Given the description of an element on the screen output the (x, y) to click on. 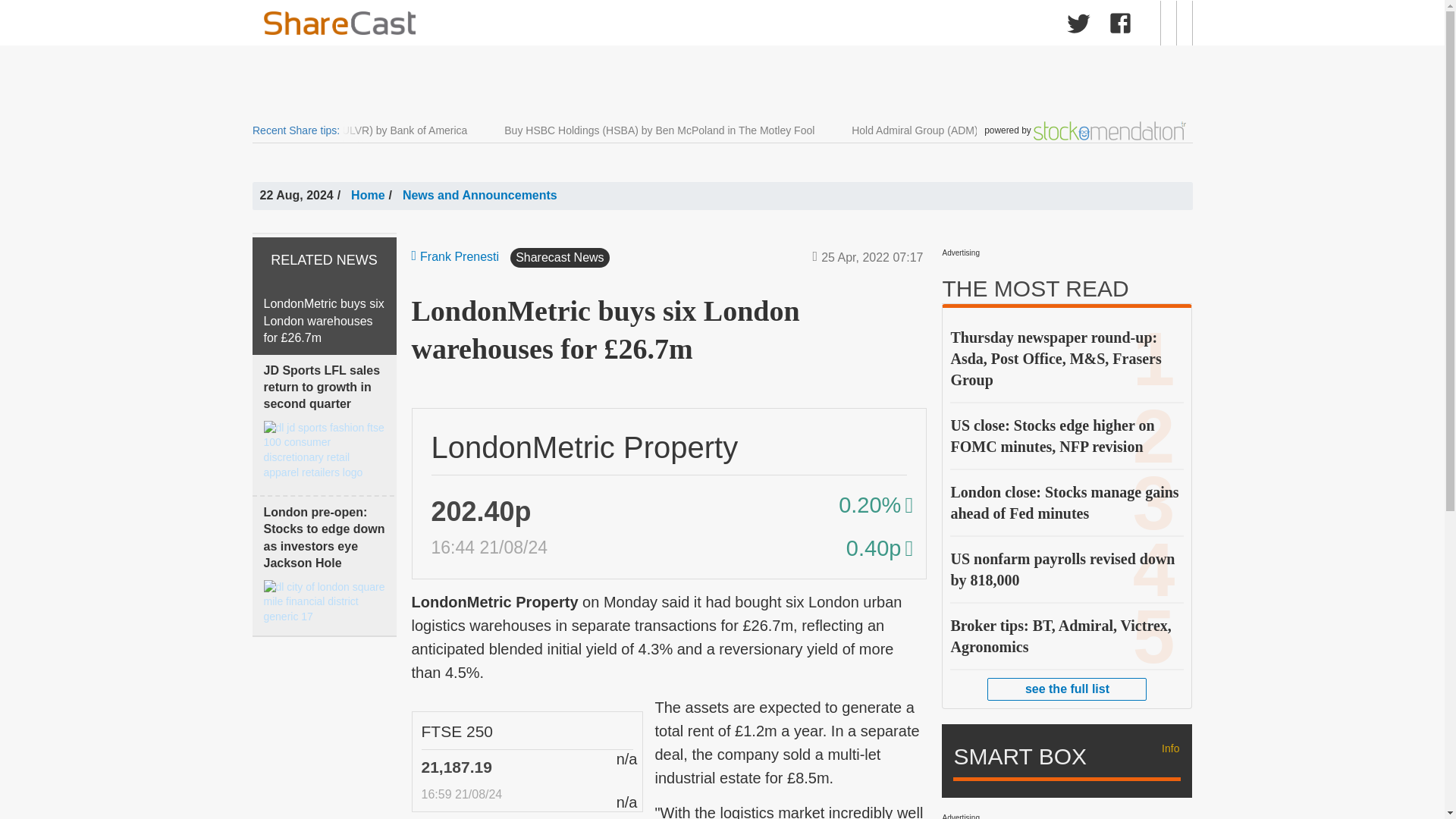
FTSE 250 (457, 731)
Cryptocurrencies (633, 26)
Sharecast (486, 22)
Active Trader (744, 26)
Market Data (404, 26)
UK Shares (315, 26)
Sharecast News (511, 26)
LondonMetric Property (584, 447)
